Given the description of an element on the screen output the (x, y) to click on. 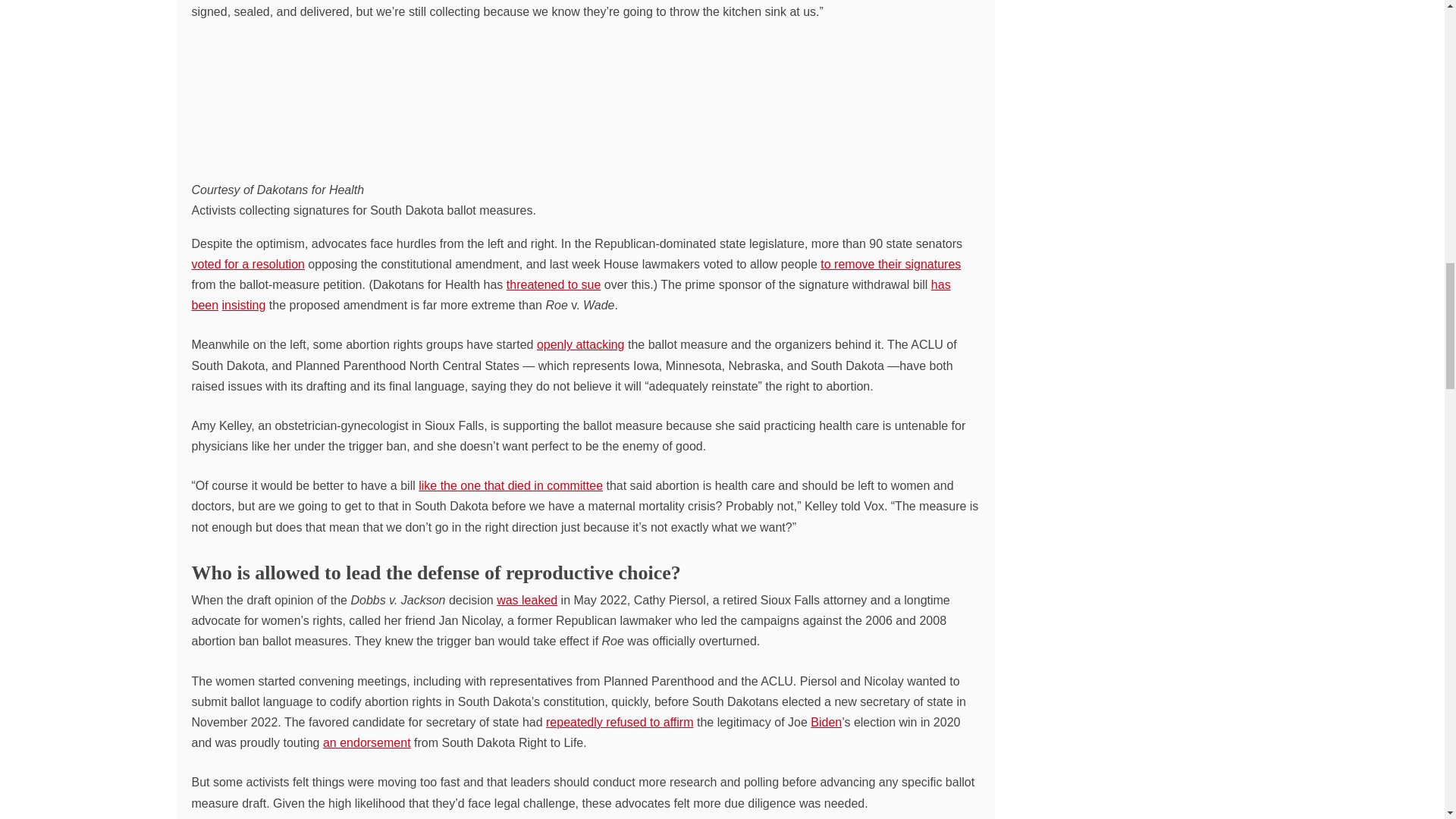
has been (570, 295)
openly attacking (580, 344)
was leaked (526, 599)
threatened to sue (553, 284)
repeatedly refused to affirm (619, 721)
voted for a resolution (247, 264)
to remove their signatures (890, 264)
like the one that died in committee (510, 485)
insisting (244, 305)
